Given the description of an element on the screen output the (x, y) to click on. 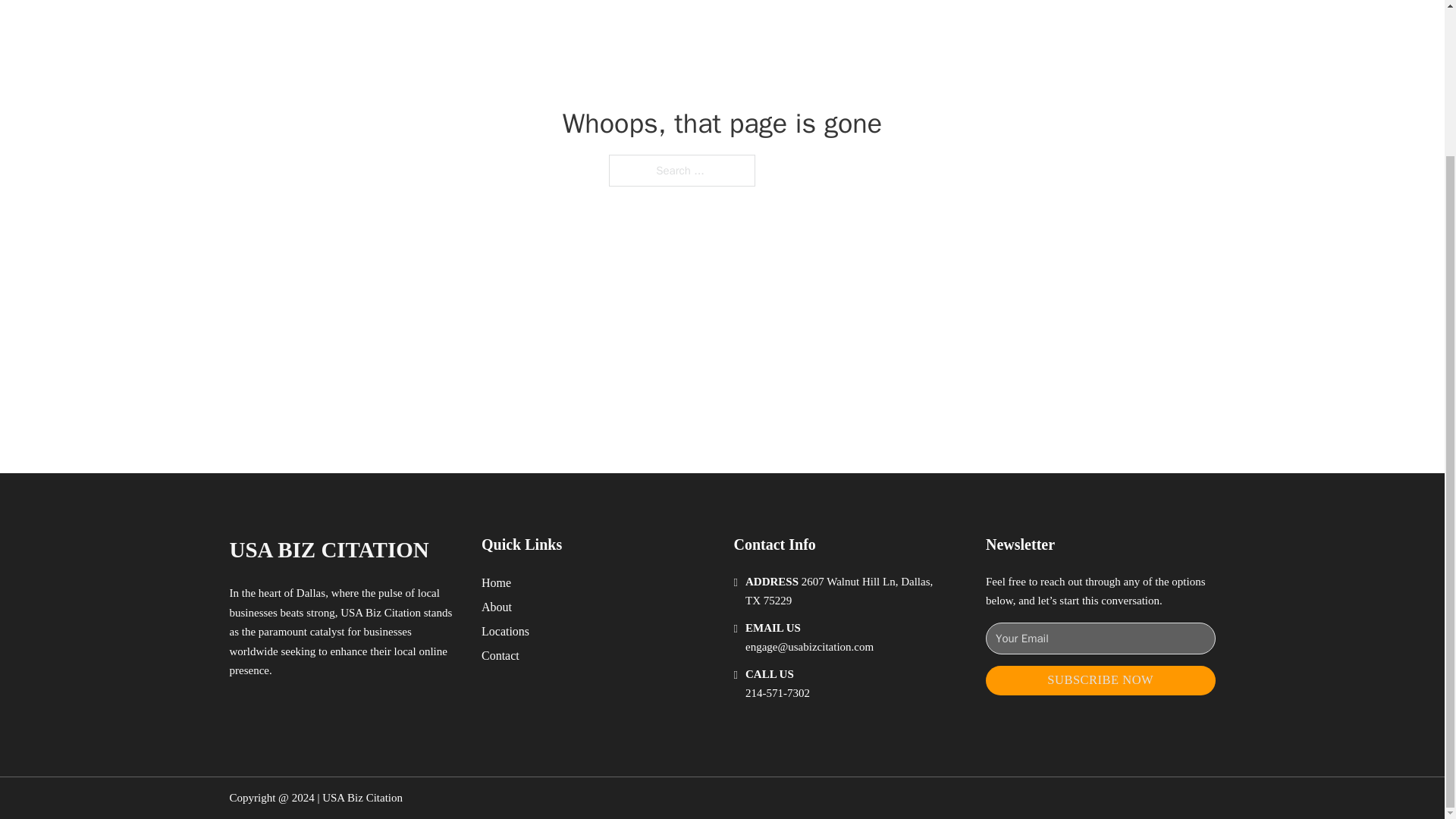
About (496, 607)
SUBSCRIBE NOW (1100, 680)
Locations (505, 630)
Contact (500, 655)
USA BIZ CITATION (328, 549)
214-571-7302 (777, 693)
Home (496, 582)
